Given the description of an element on the screen output the (x, y) to click on. 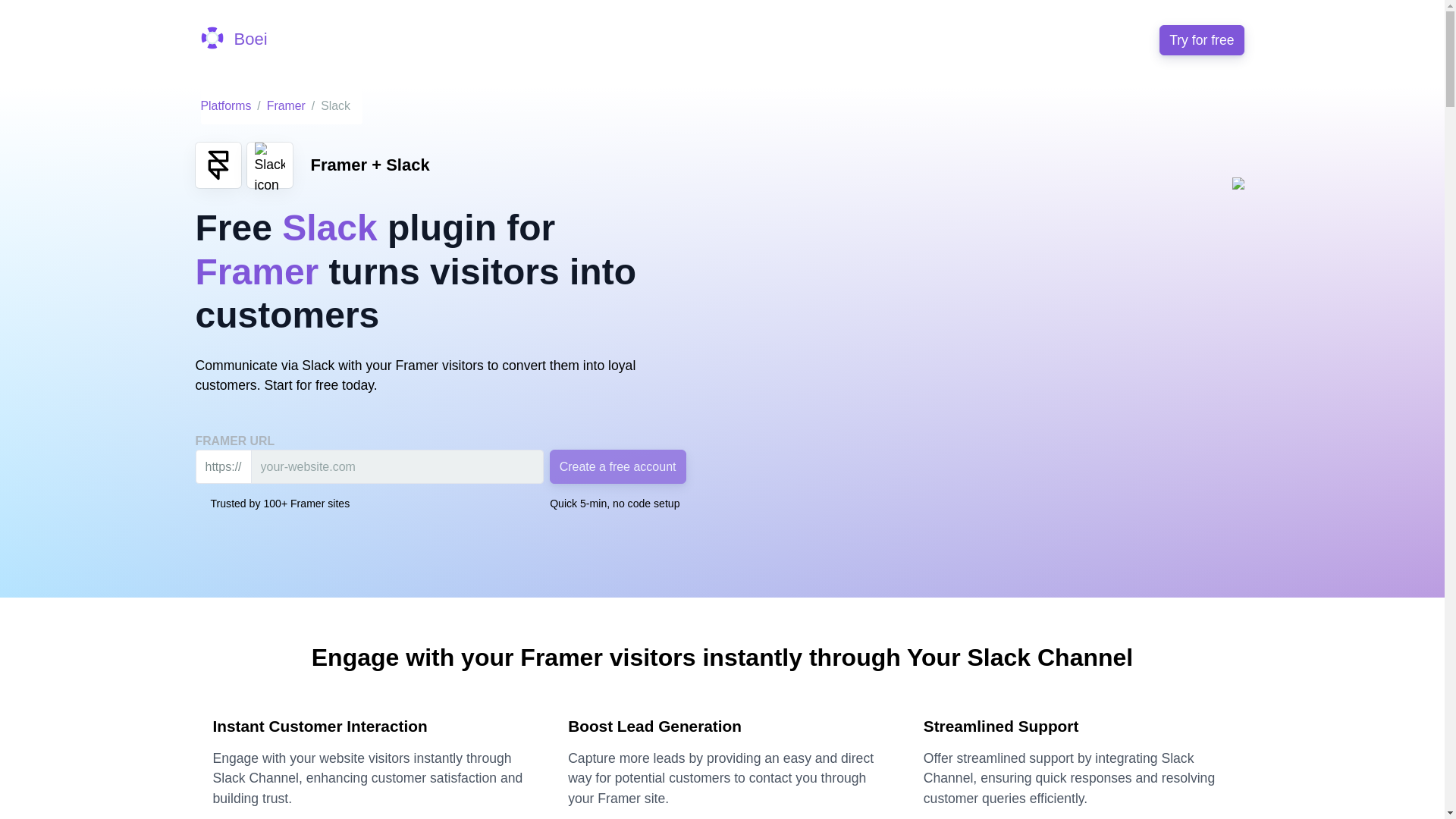
Try for free (1200, 40)
Create a free account (617, 466)
Boei (233, 39)
Platforms (225, 105)
Framer (285, 105)
